Given the description of an element on the screen output the (x, y) to click on. 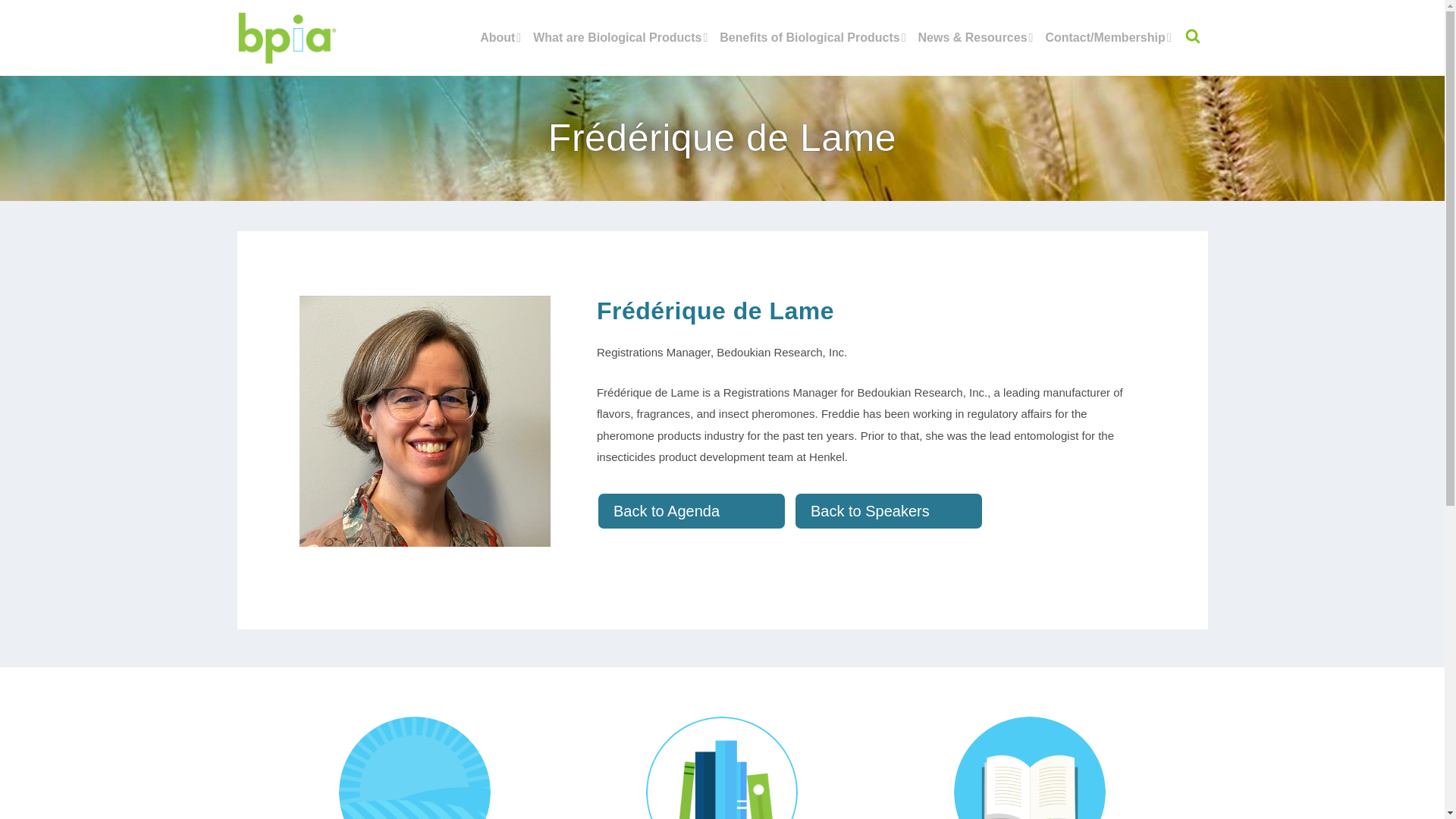
What are Biological Products (619, 51)
Benefits of Biological Products (812, 51)
